Given the description of an element on the screen output the (x, y) to click on. 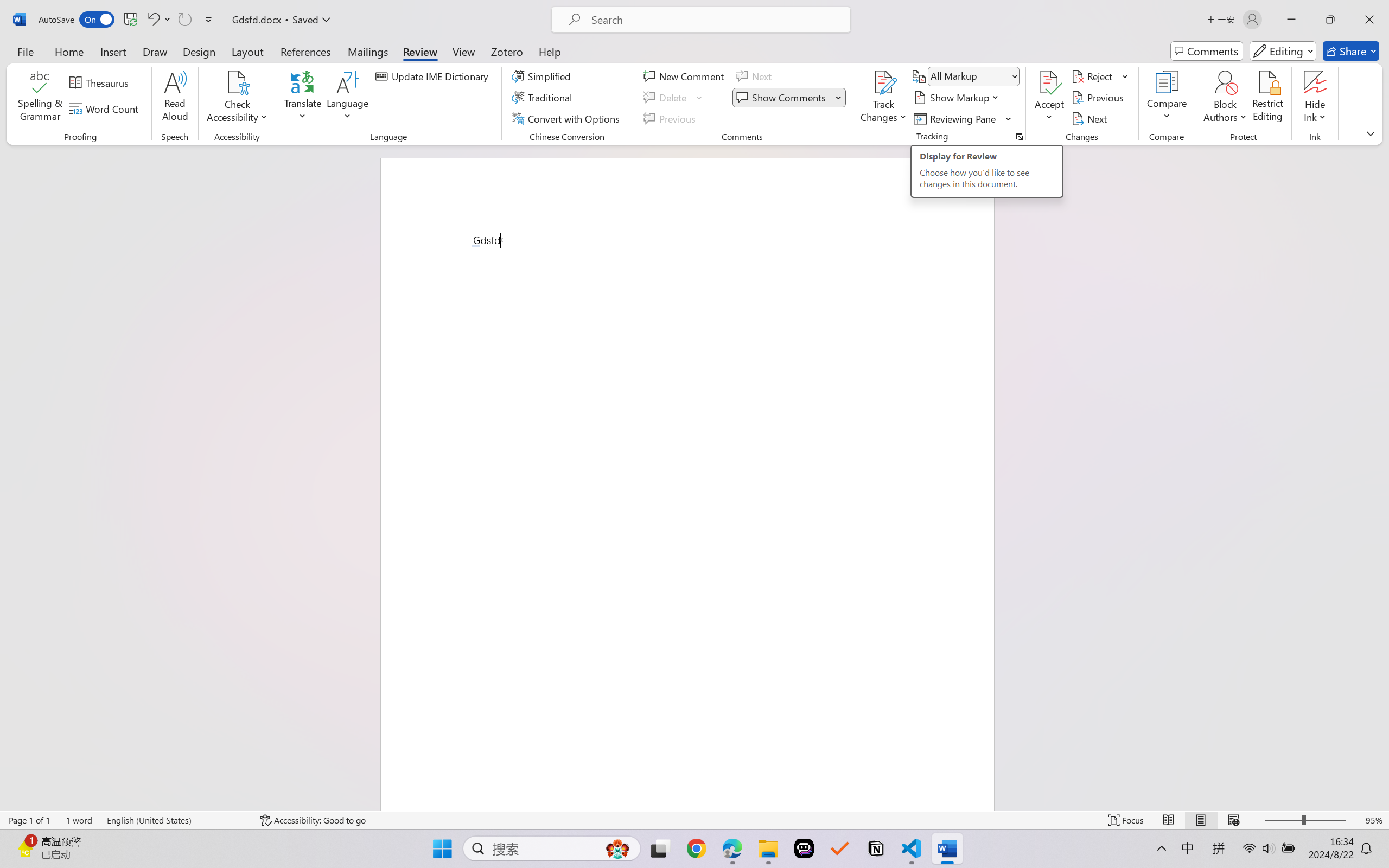
Reviewing Pane (962, 118)
Delete (666, 97)
Update IME Dictionary... (433, 75)
Traditional (543, 97)
Track Changes (883, 97)
Change Tracking Options... (1019, 136)
Display for Review (973, 75)
Block Authors (1224, 97)
Zoom 95% (1374, 819)
Next (1090, 118)
